Given the description of an element on the screen output the (x, y) to click on. 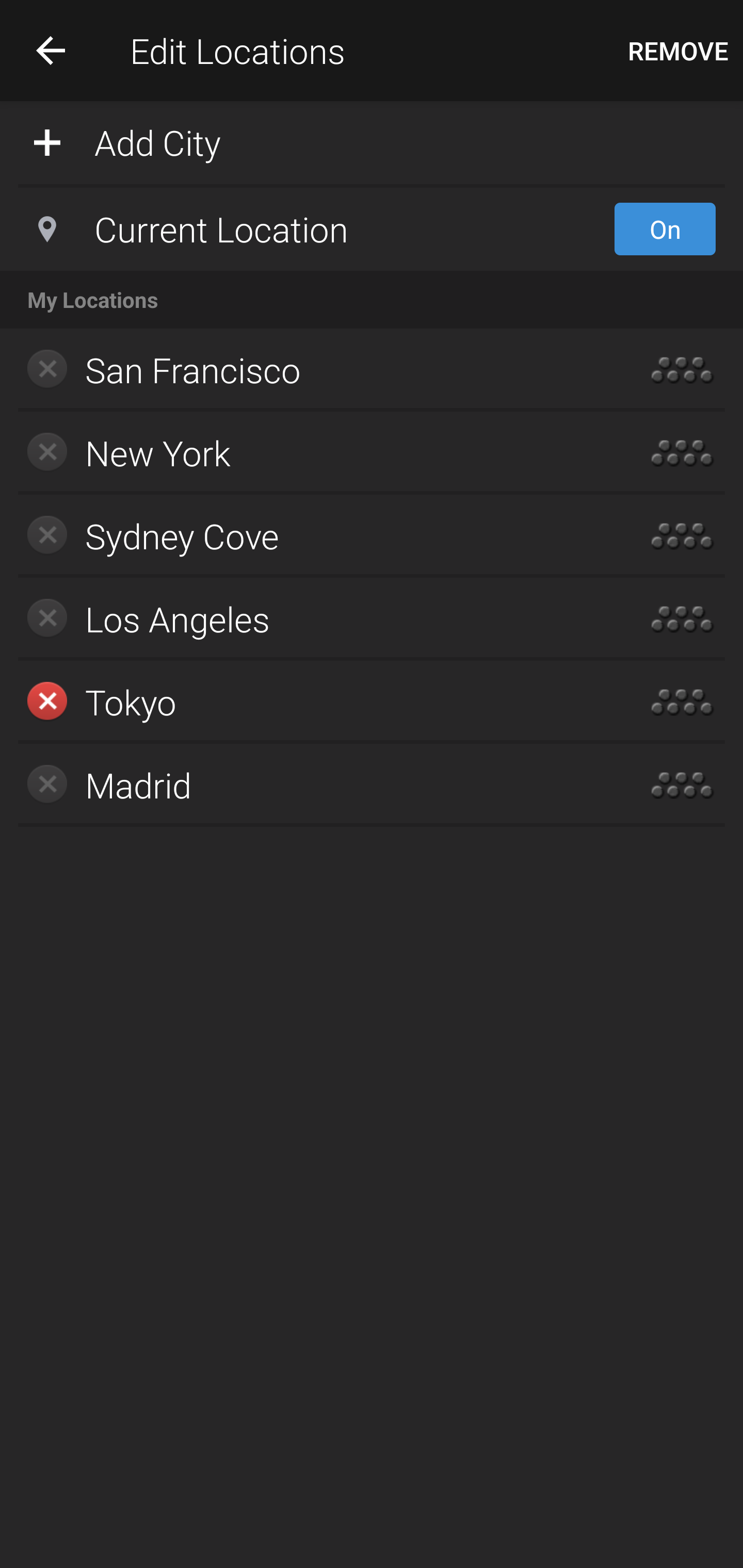
Navigate up (50, 50)
REMOVE (677, 50)
Add City (371, 141)
Current Location: On Current Location On (371, 229)
Delete: San Francisco San Francisco (311, 369)
Delete: New York New York (311, 452)
Delete: Sydney Cove Sydney Cove (311, 535)
Delete: Los Angeles Los Angeles (311, 618)
Delete: Tokyo: Selected Tokyo (311, 701)
Delete: Madrid Madrid (311, 784)
